Given the description of an element on the screen output the (x, y) to click on. 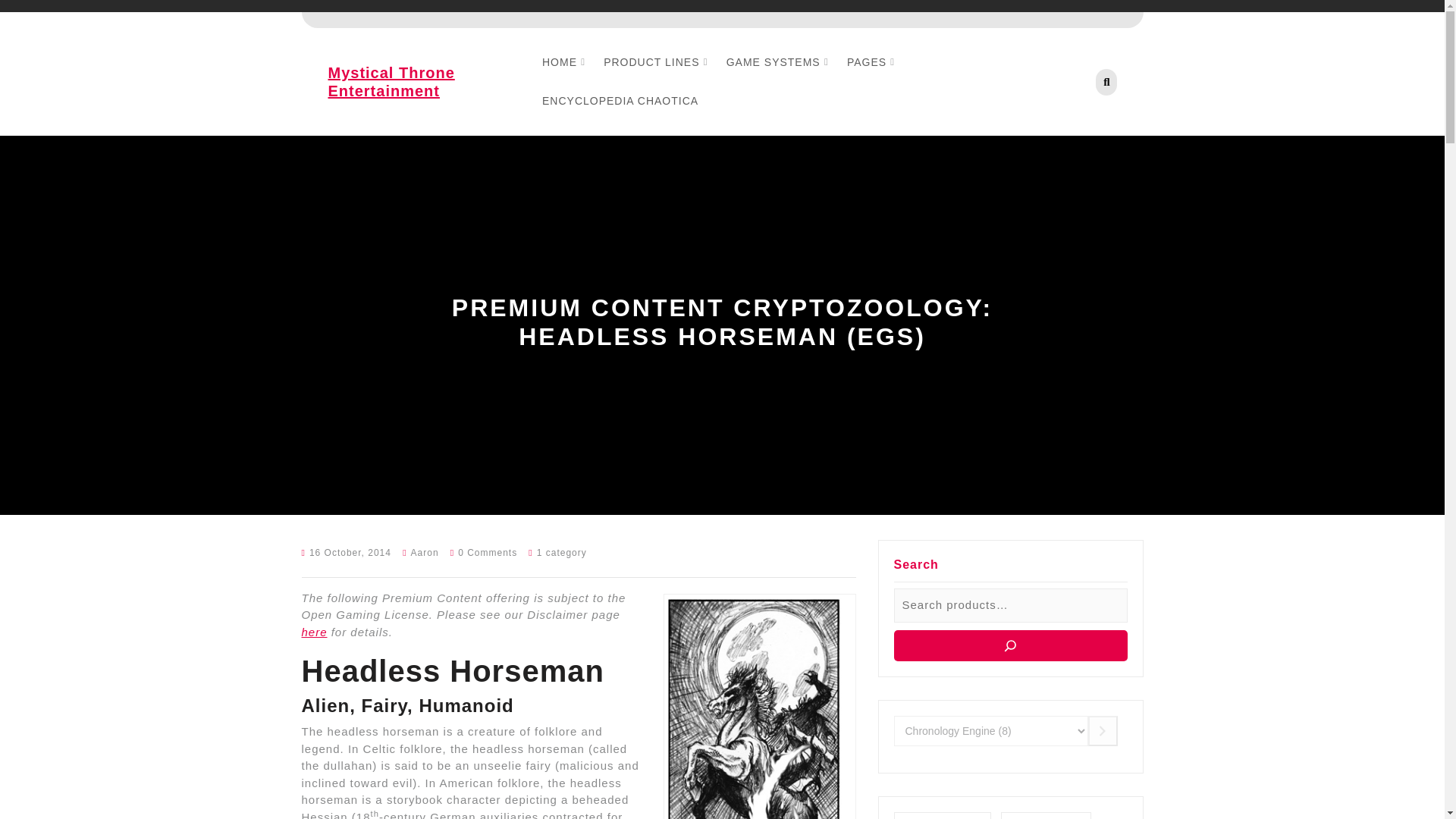
HOME (558, 62)
here (314, 631)
PRODUCT LINES (651, 62)
PAGES (866, 62)
Mystical Throne Entertainment (390, 81)
ENCYCLOPEDIA CHAOTICA (619, 100)
GAME SYSTEMS (773, 62)
